Given the description of an element on the screen output the (x, y) to click on. 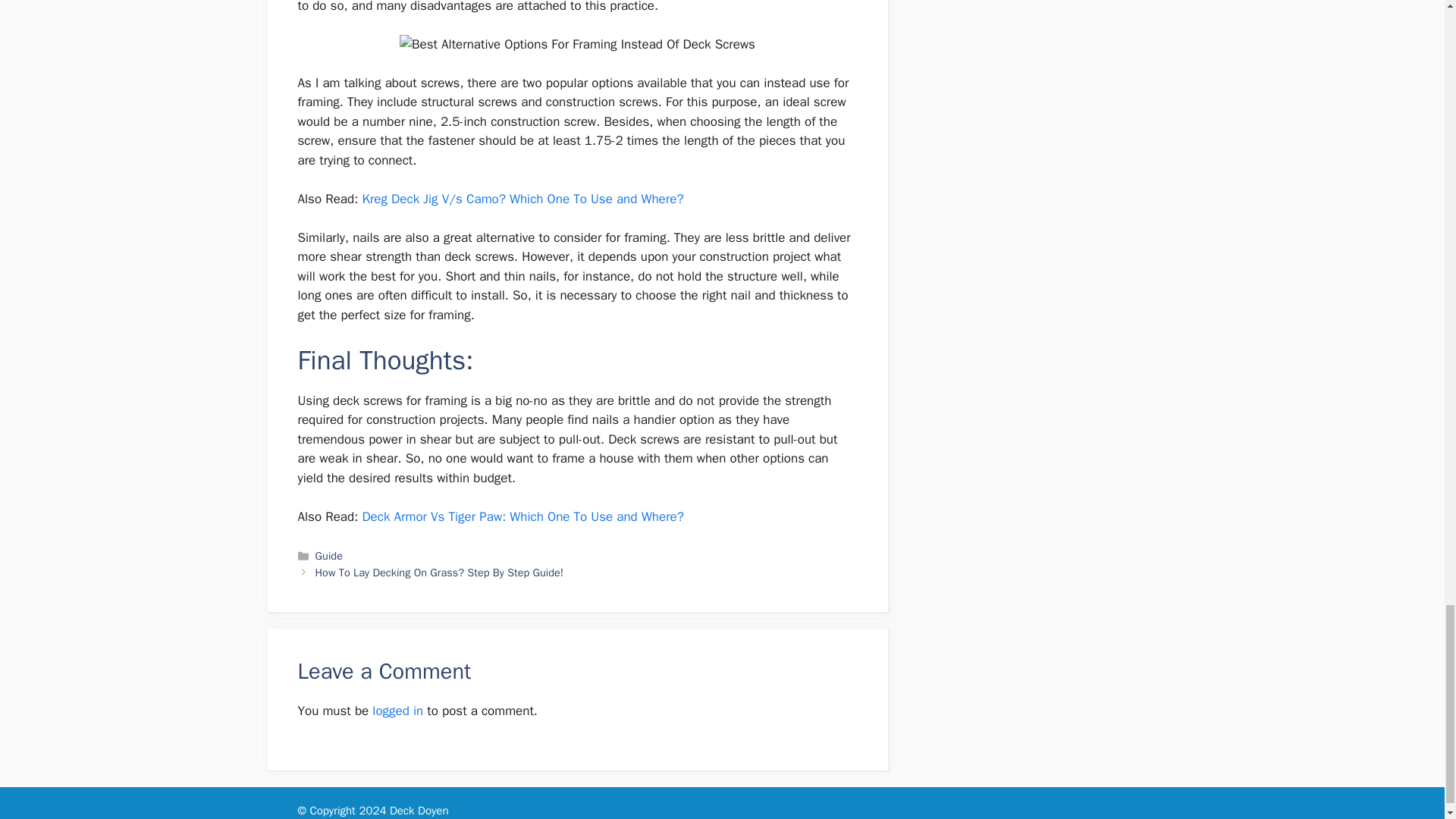
logged in (397, 710)
Deck Armor Vs Tiger Paw: Which One To Use and Where? (522, 516)
How To Lay Decking On Grass? Step By Step Guide! (439, 572)
Guide (328, 555)
